Given the description of an element on the screen output the (x, y) to click on. 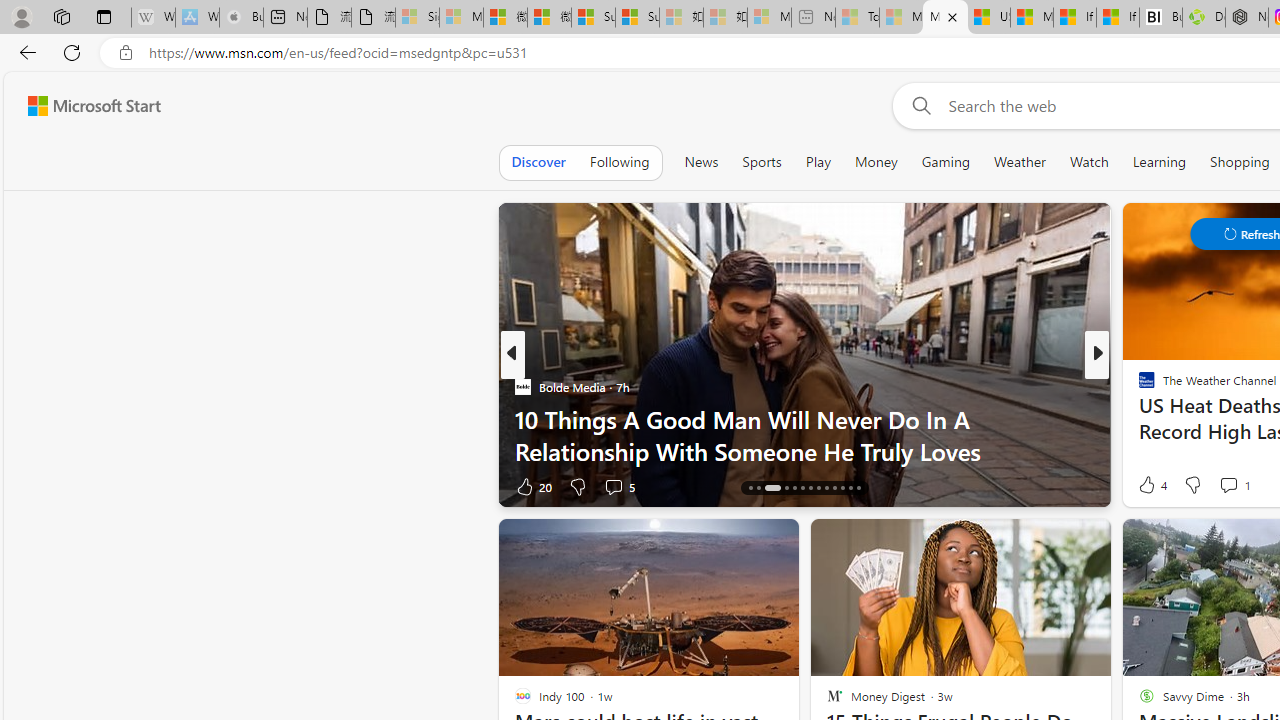
View comments 35 Comment (1234, 485)
Money (876, 162)
Sports (761, 161)
Money (875, 161)
View comments 11 Comment (1244, 486)
